Given the description of an element on the screen output the (x, y) to click on. 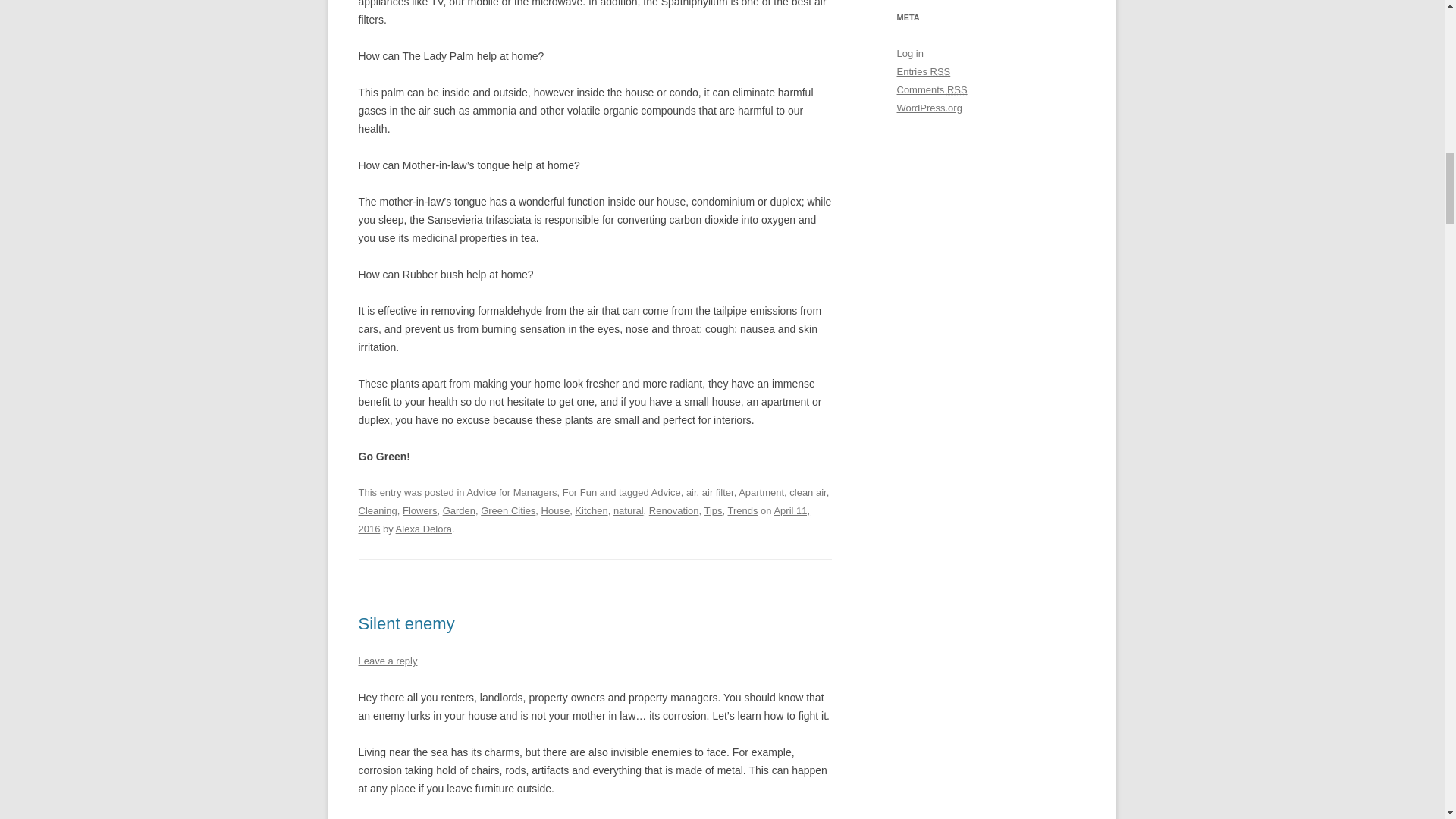
air (691, 491)
air filter (717, 491)
For Fun (579, 491)
Advice (665, 491)
View all posts in Advice for Managers (510, 491)
Advice for Managers (510, 491)
Apartment (761, 491)
